Given the description of an element on the screen output the (x, y) to click on. 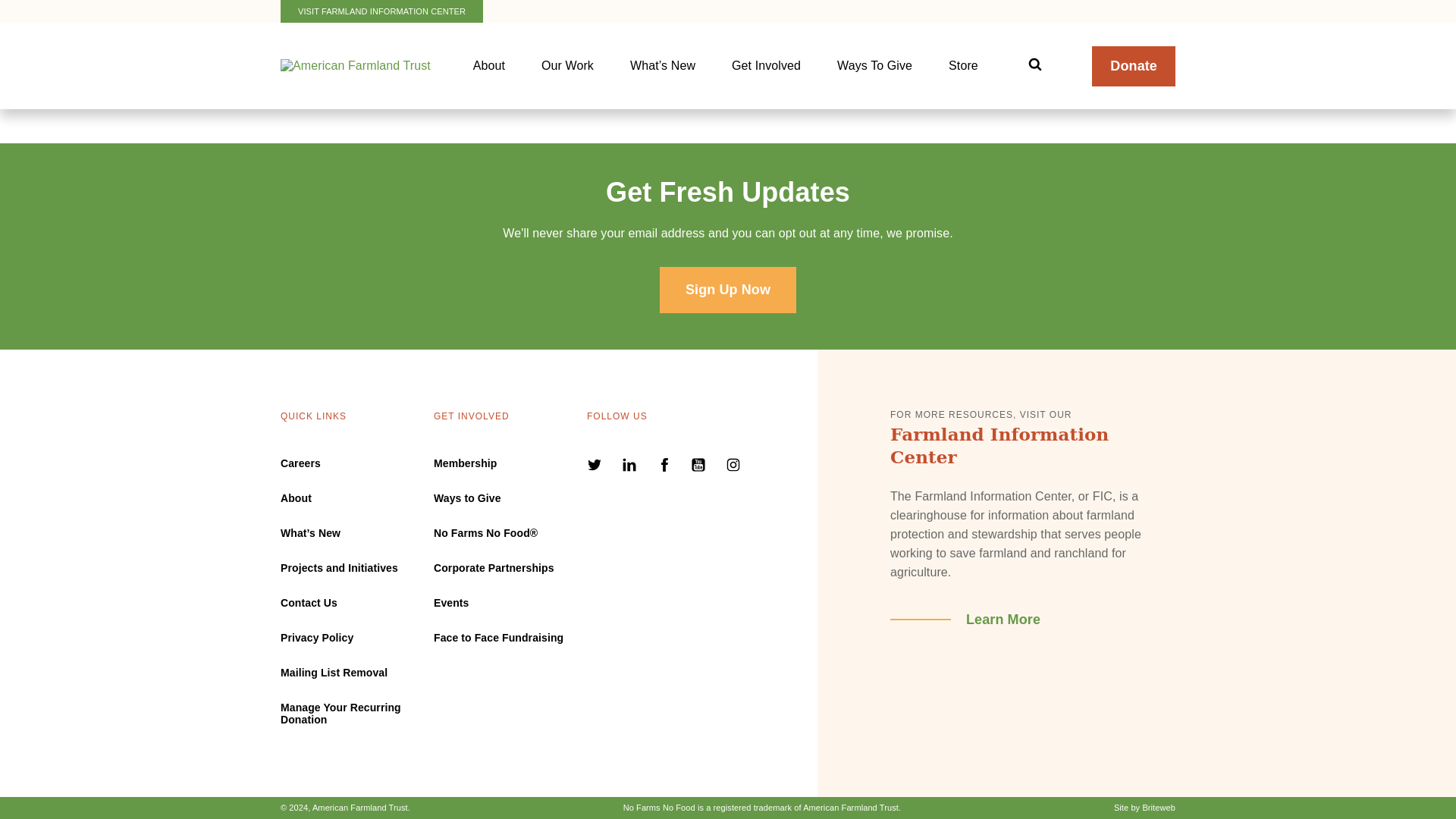
Ways To Give (874, 65)
linkedin (631, 466)
Our Work (566, 65)
instagram (733, 466)
twitter (596, 466)
Get Involved (765, 65)
facebook (666, 466)
VISIT FARMLAND INFORMATION CENTER (382, 11)
youtube (700, 466)
